Given the description of an element on the screen output the (x, y) to click on. 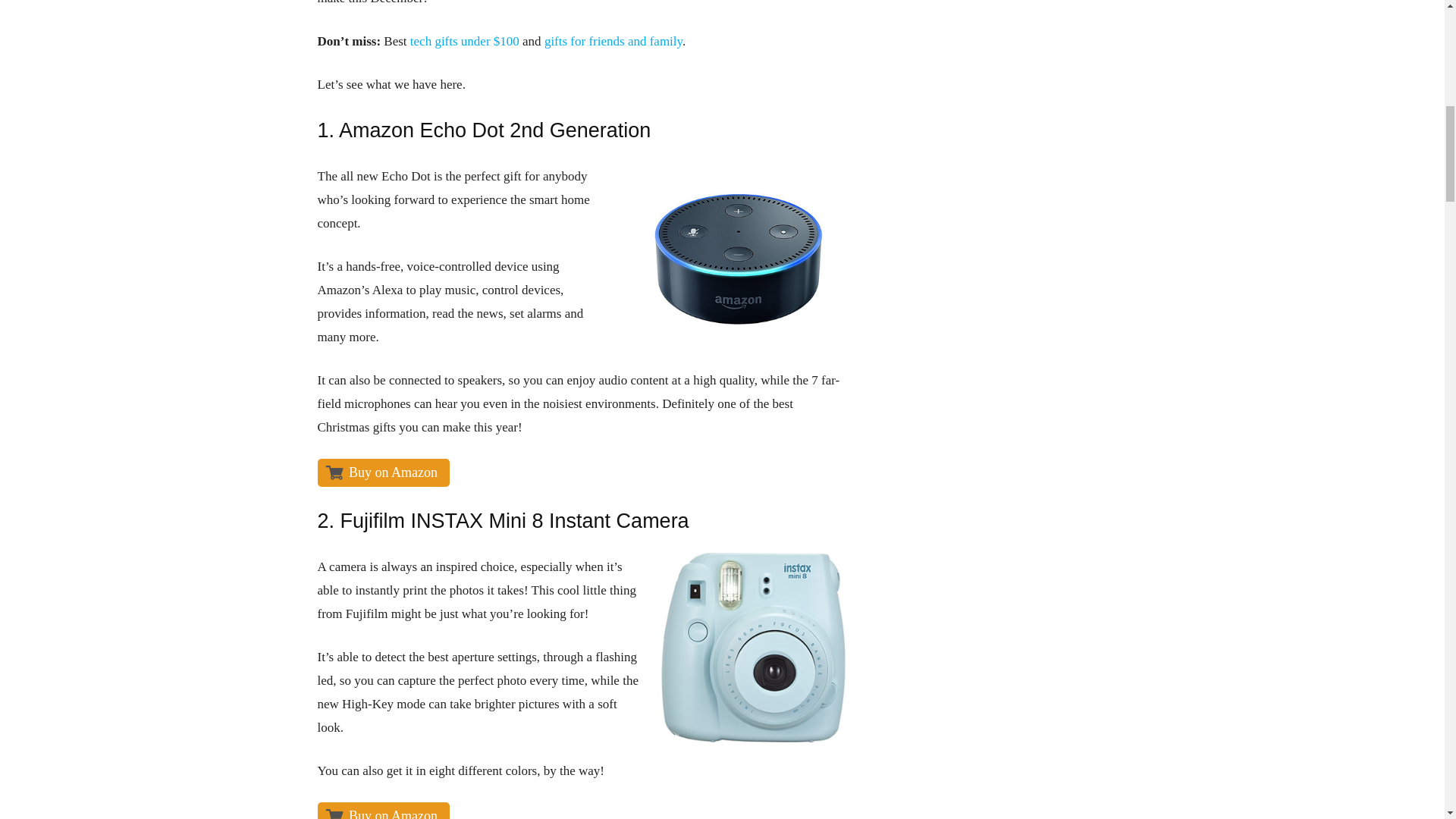
Buy on Amazon (383, 810)
Buy on Amazon (383, 472)
gifts for friends and family (613, 41)
